Given the description of an element on the screen output the (x, y) to click on. 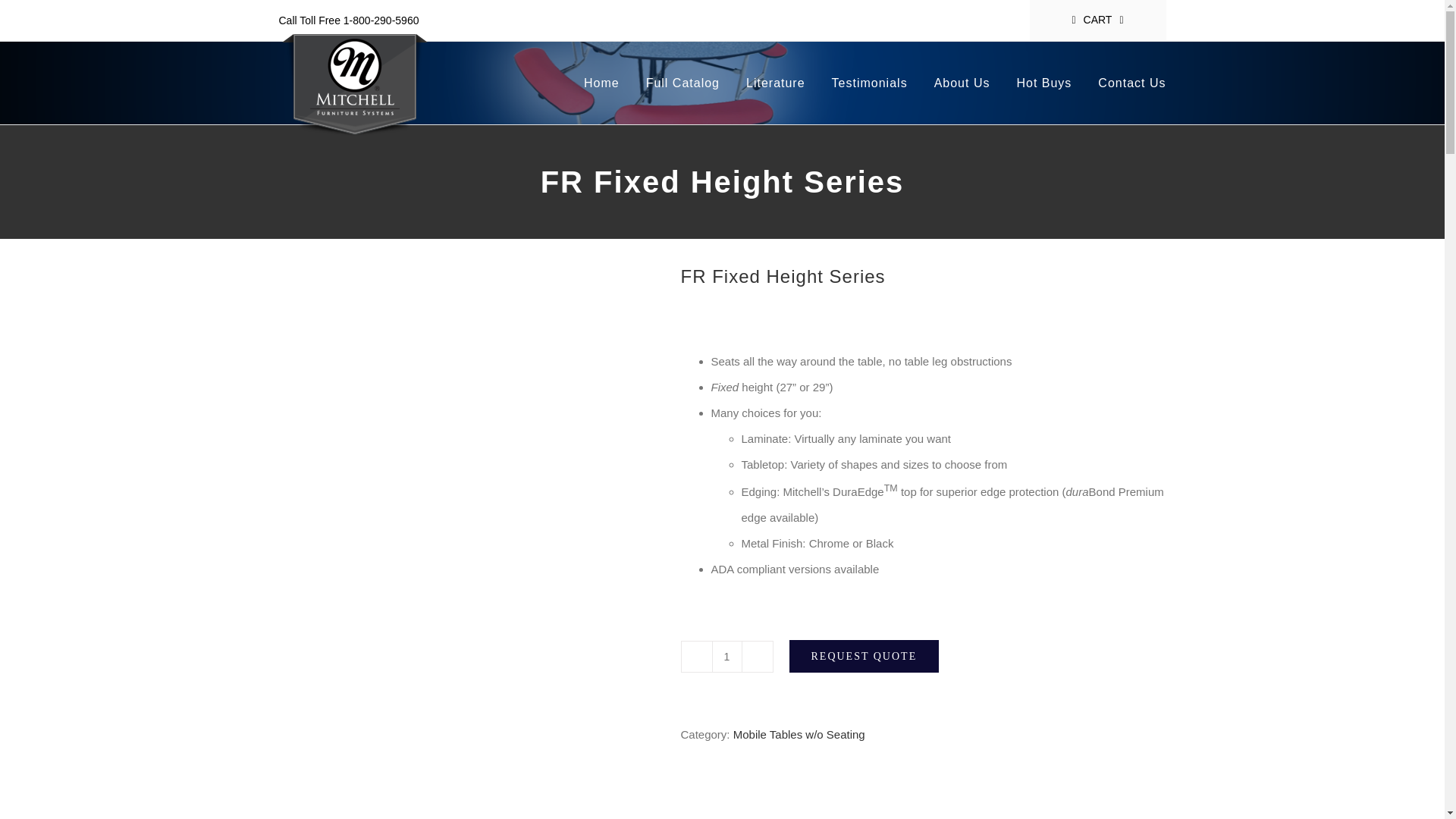
Qty (726, 656)
CART (1097, 20)
REQUEST QUOTE (864, 656)
1 (726, 656)
Full Catalog (682, 82)
Testimonials (869, 82)
